Given the description of an element on the screen output the (x, y) to click on. 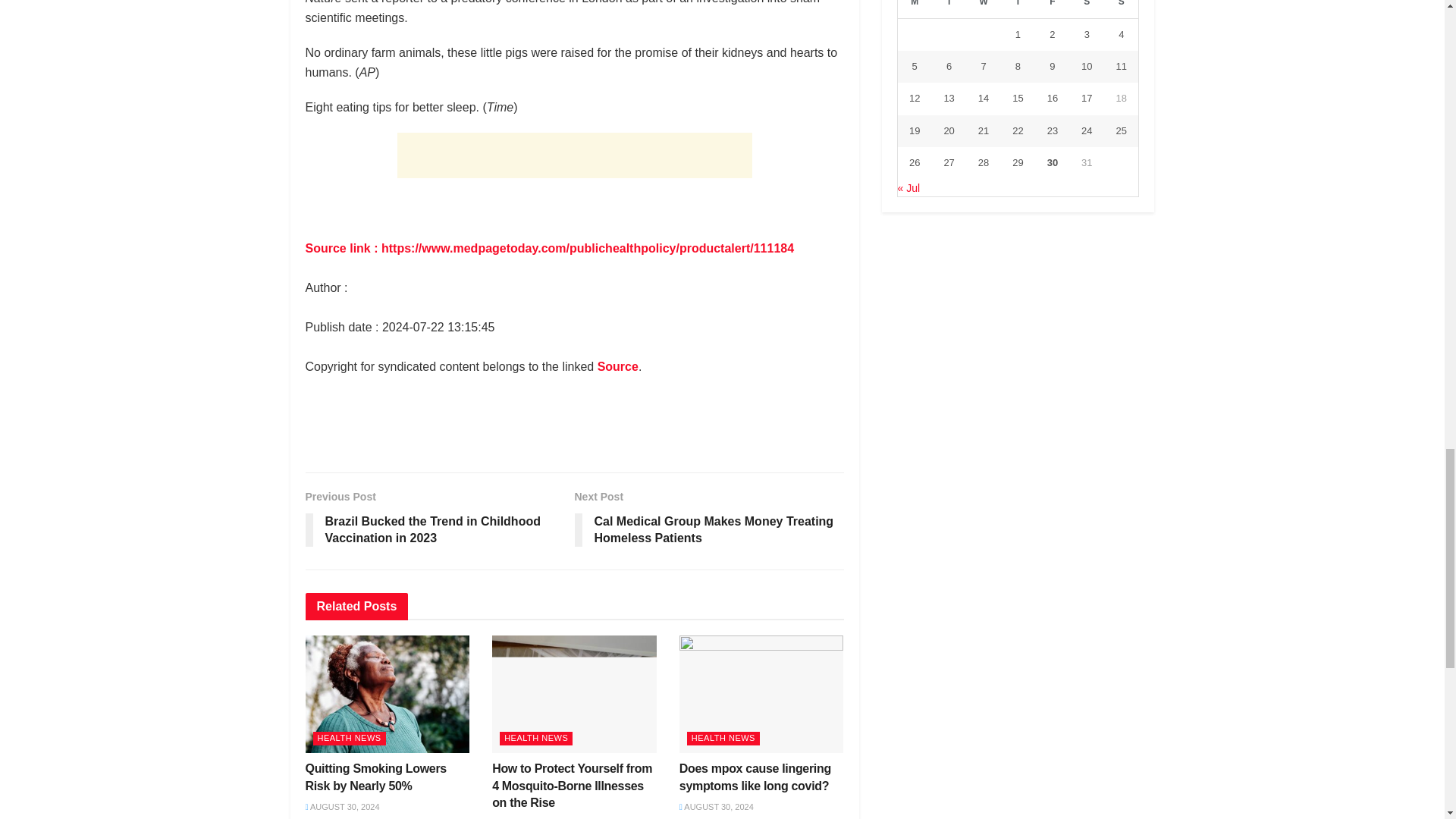
Thursday (1018, 9)
Tuesday (948, 9)
Sunday (1120, 9)
Wednesday (983, 9)
Saturday (1086, 9)
Monday (914, 9)
Source (617, 366)
Friday (1051, 9)
